Given the description of an element on the screen output the (x, y) to click on. 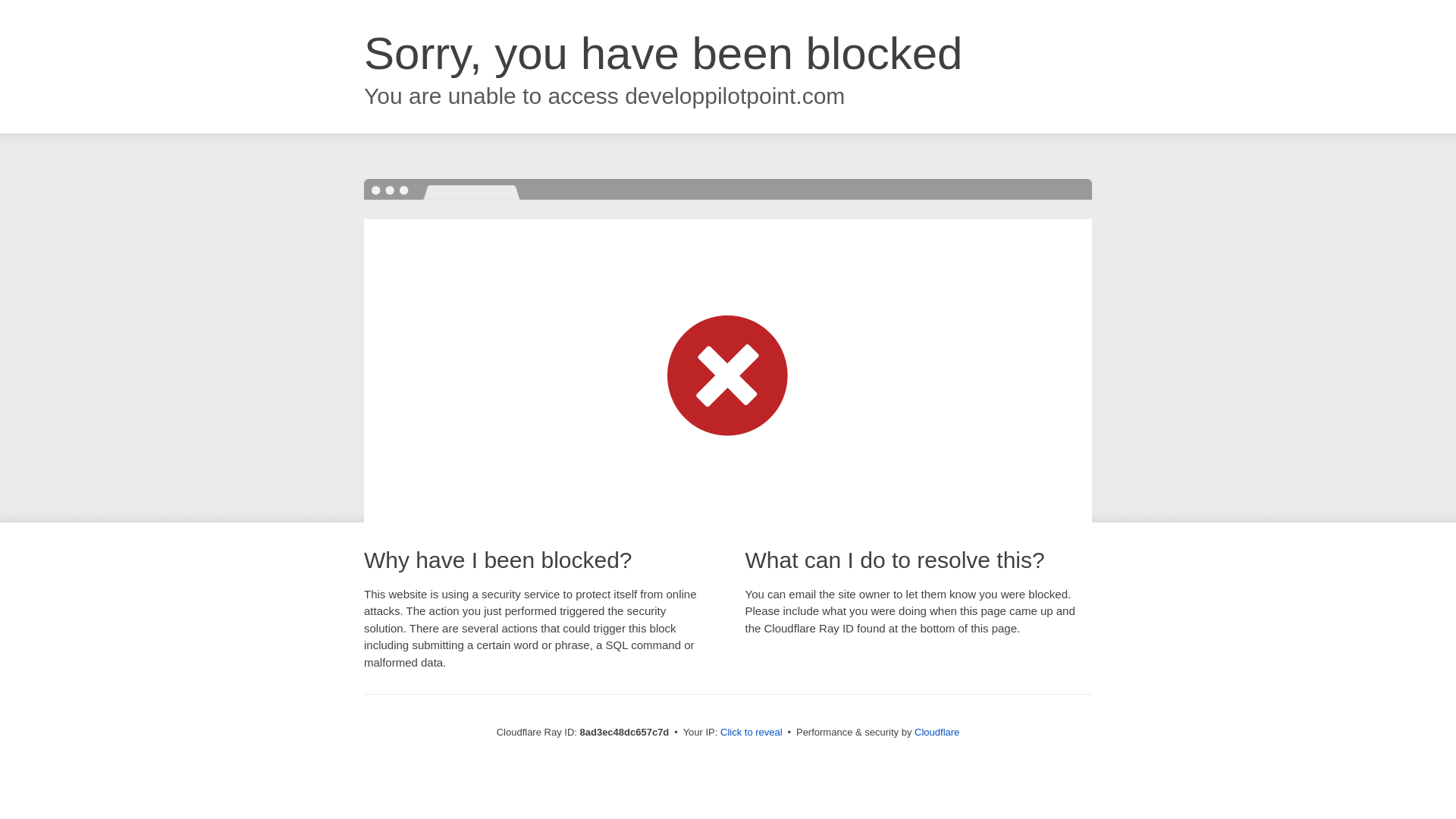
Click to reveal (751, 732)
Cloudflare (936, 731)
